Given the description of an element on the screen output the (x, y) to click on. 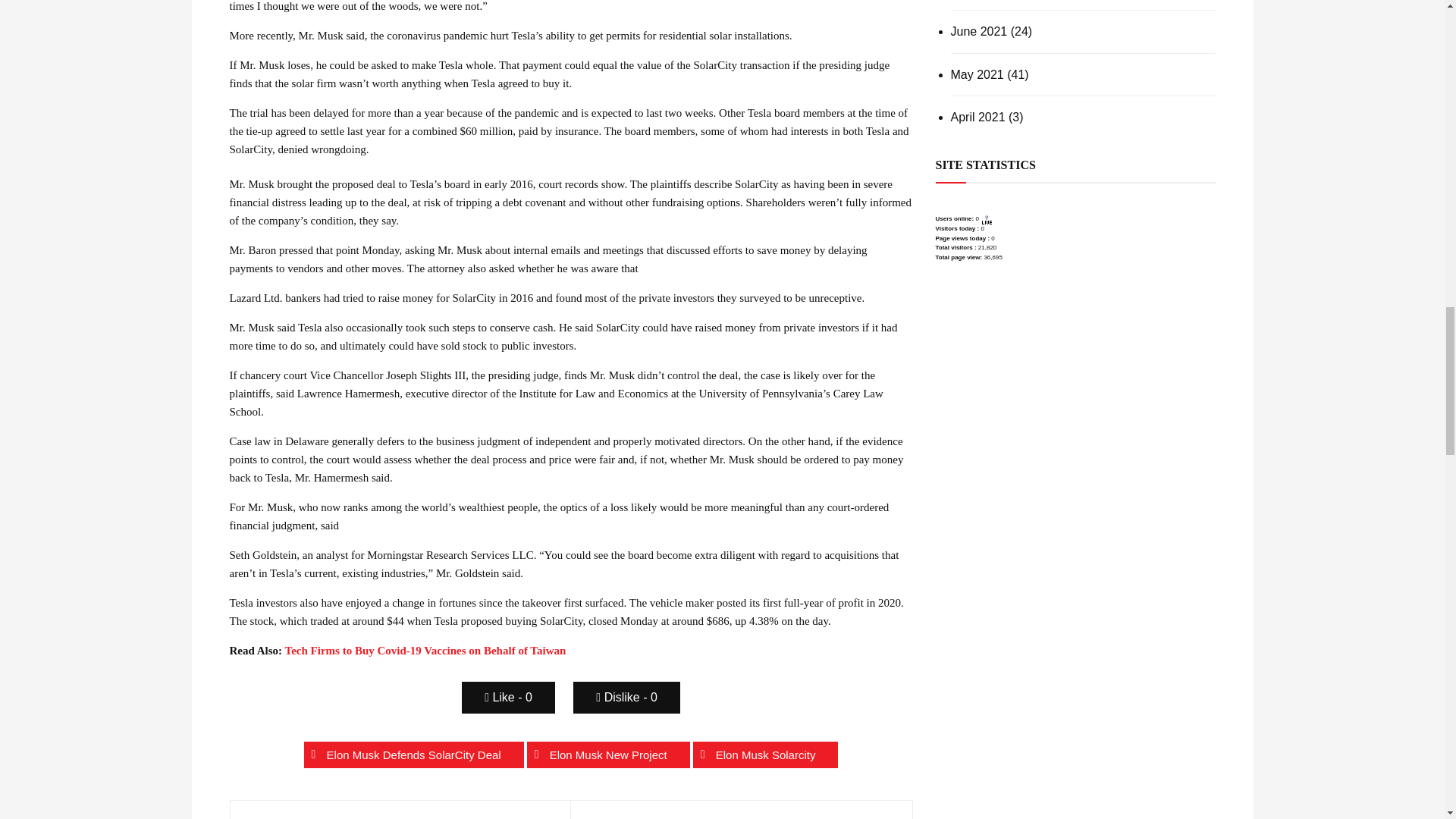
Elon Musk Solarcity (765, 755)
Like - 0 (507, 697)
Dislike - 0 (626, 697)
Elon Musk New Project (608, 755)
Elon Musk Defends SolarCity Deal (414, 755)
Tech Firms to Buy Covid-19 Vaccines on Behalf of Taiwan (425, 650)
